Given the description of an element on the screen output the (x, y) to click on. 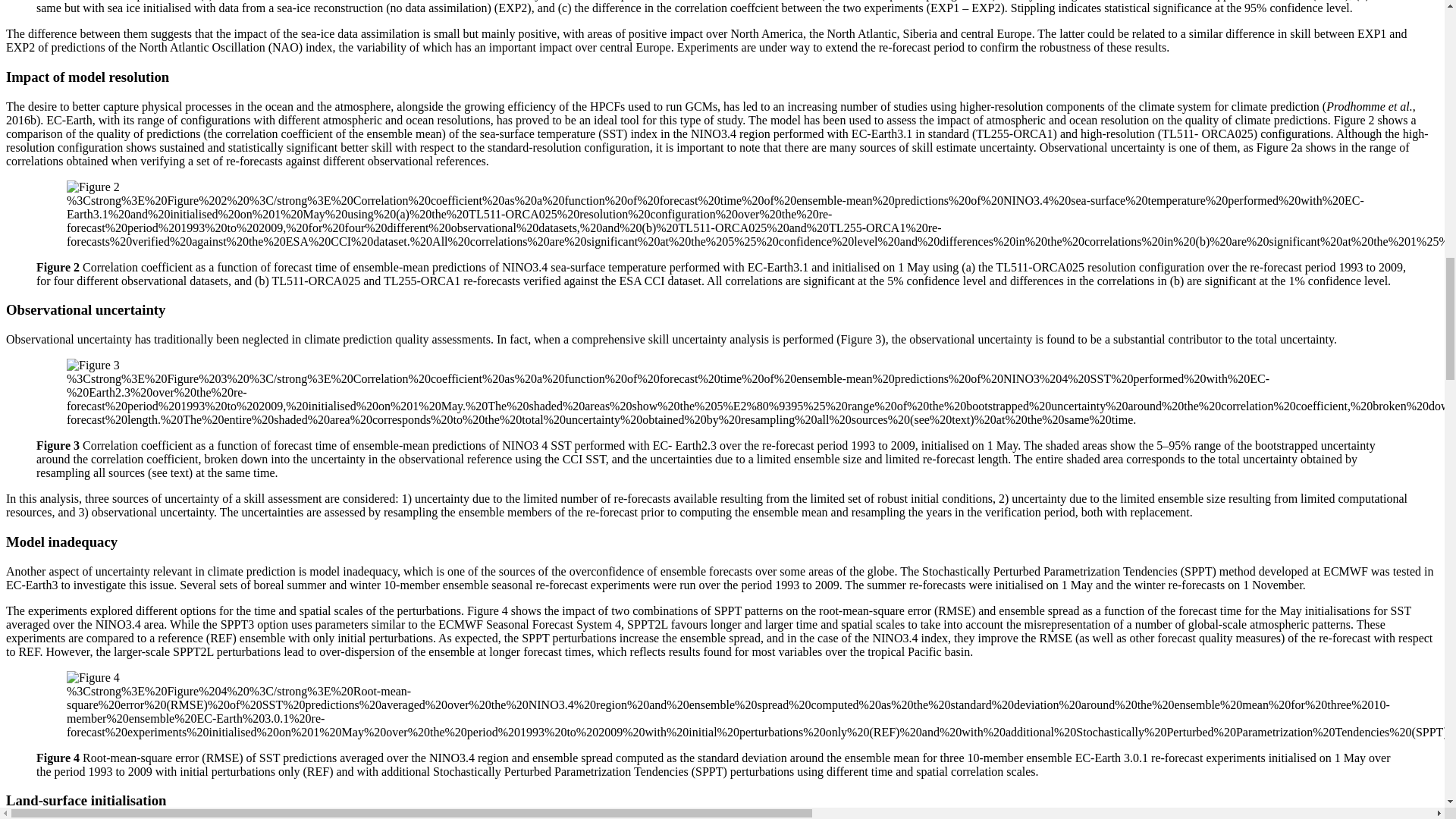
Figure 2 (92, 187)
Figure 3 (92, 365)
Figure 4 (92, 677)
